Given the description of an element on the screen output the (x, y) to click on. 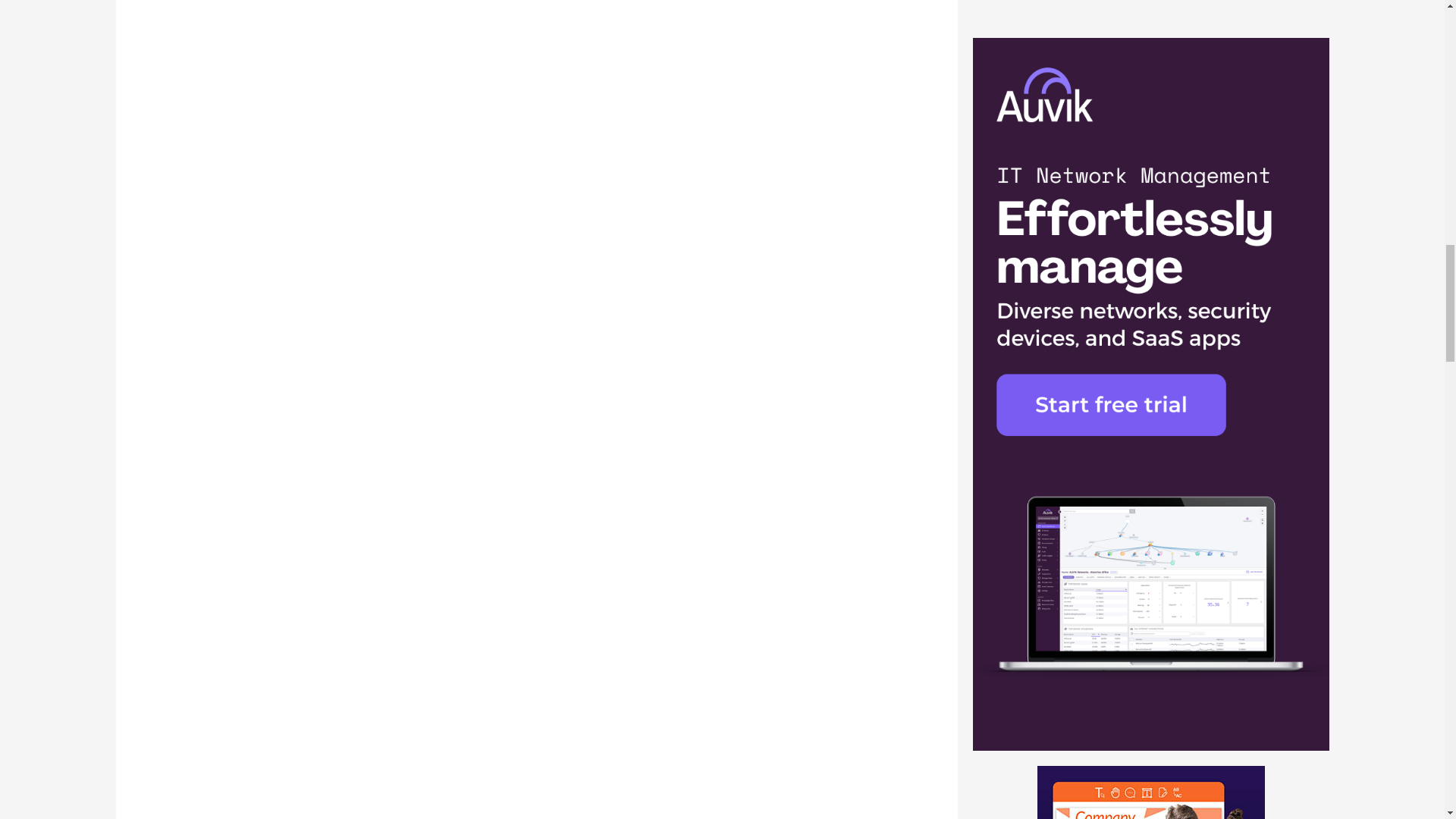
Search (1276, 206)
Search (1276, 206)
